Given the description of an element on the screen output the (x, y) to click on. 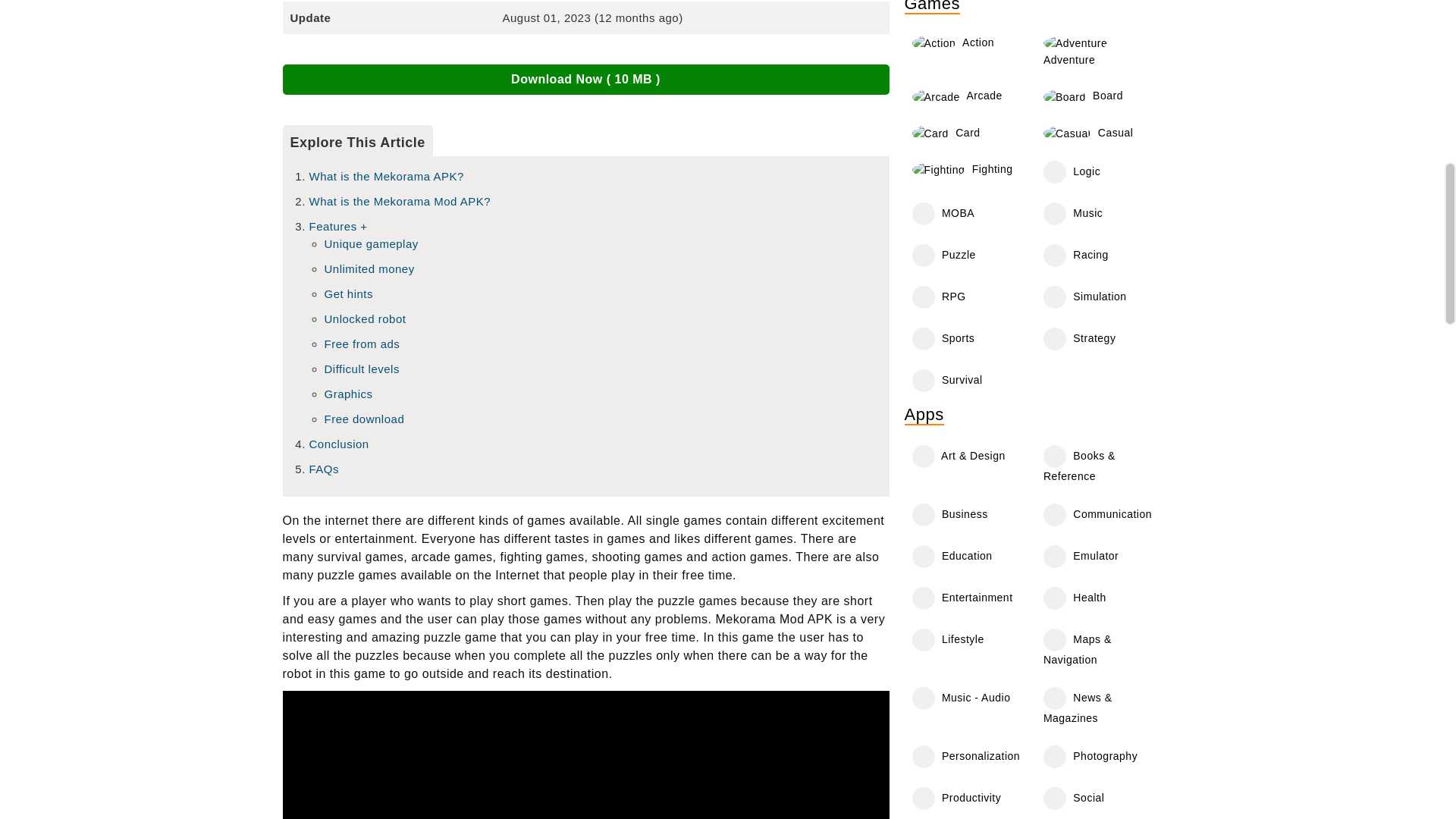
Free download (364, 418)
Features (338, 226)
Free from ads (362, 343)
Difficult levels (361, 368)
What is the Mekorama APK? (386, 175)
Unlocked robot (365, 318)
Get hints (349, 293)
Unique gameplay (371, 243)
Unlimited money (369, 268)
What is the Mekorama Mod APK? (400, 201)
FAQs (323, 468)
Graphics (348, 393)
Conclusion (338, 443)
